Given the description of an element on the screen output the (x, y) to click on. 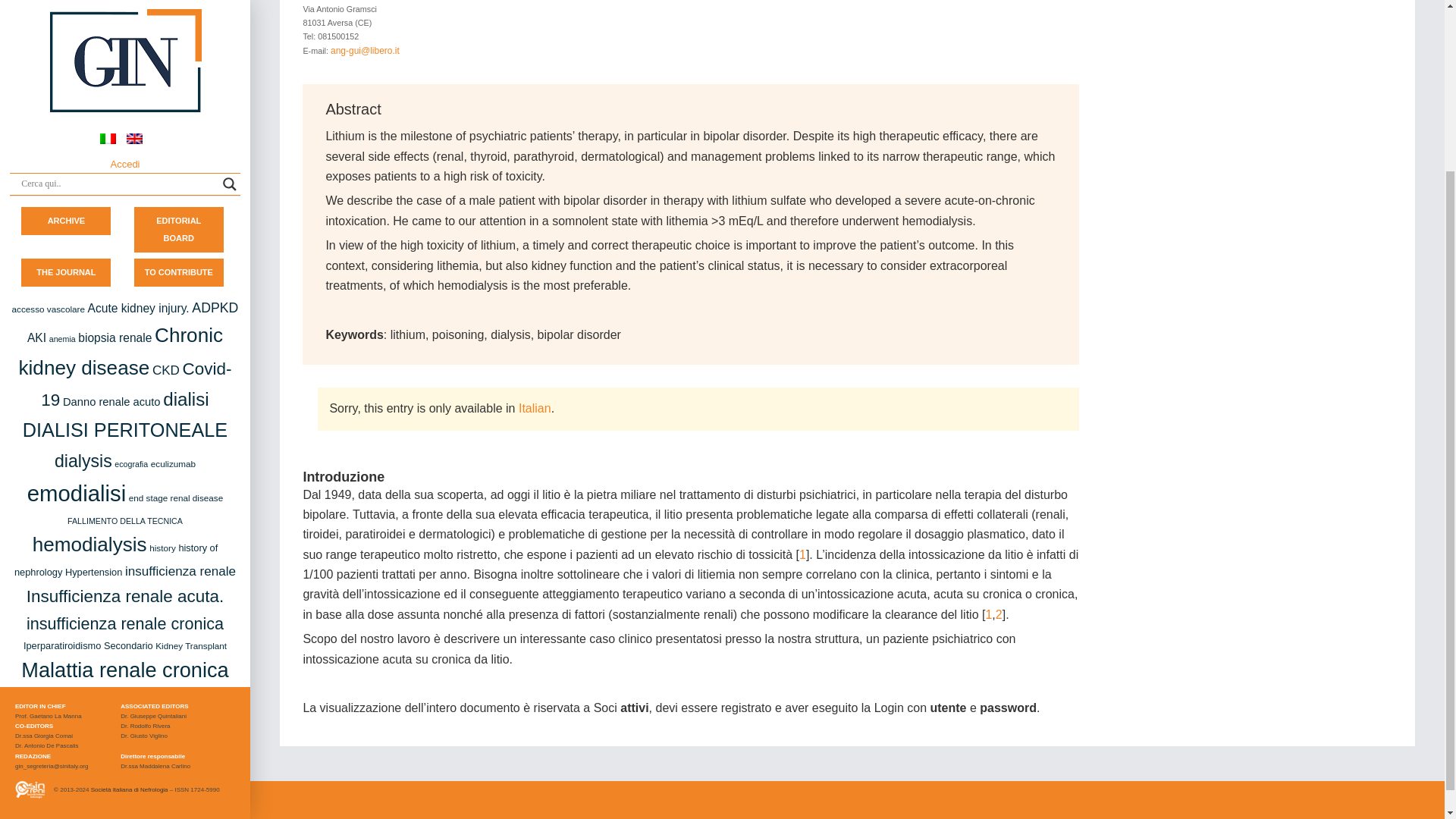
Covid-19 (135, 172)
hemodialysis (89, 332)
history (162, 335)
FALLIMENTO DELLA TECNICA (124, 307)
Acute kidney injury. (138, 95)
Insufficienza renale acuta. (125, 383)
eculizumab (173, 251)
AKI (36, 124)
Italiano (534, 408)
end stage renal disease (175, 285)
EDITORIAL BOARD (178, 18)
emodialisi (76, 280)
Iperparatiroidismo Secondario (87, 432)
accesso vascolare (47, 96)
dialysis (83, 248)
